Given the description of an element on the screen output the (x, y) to click on. 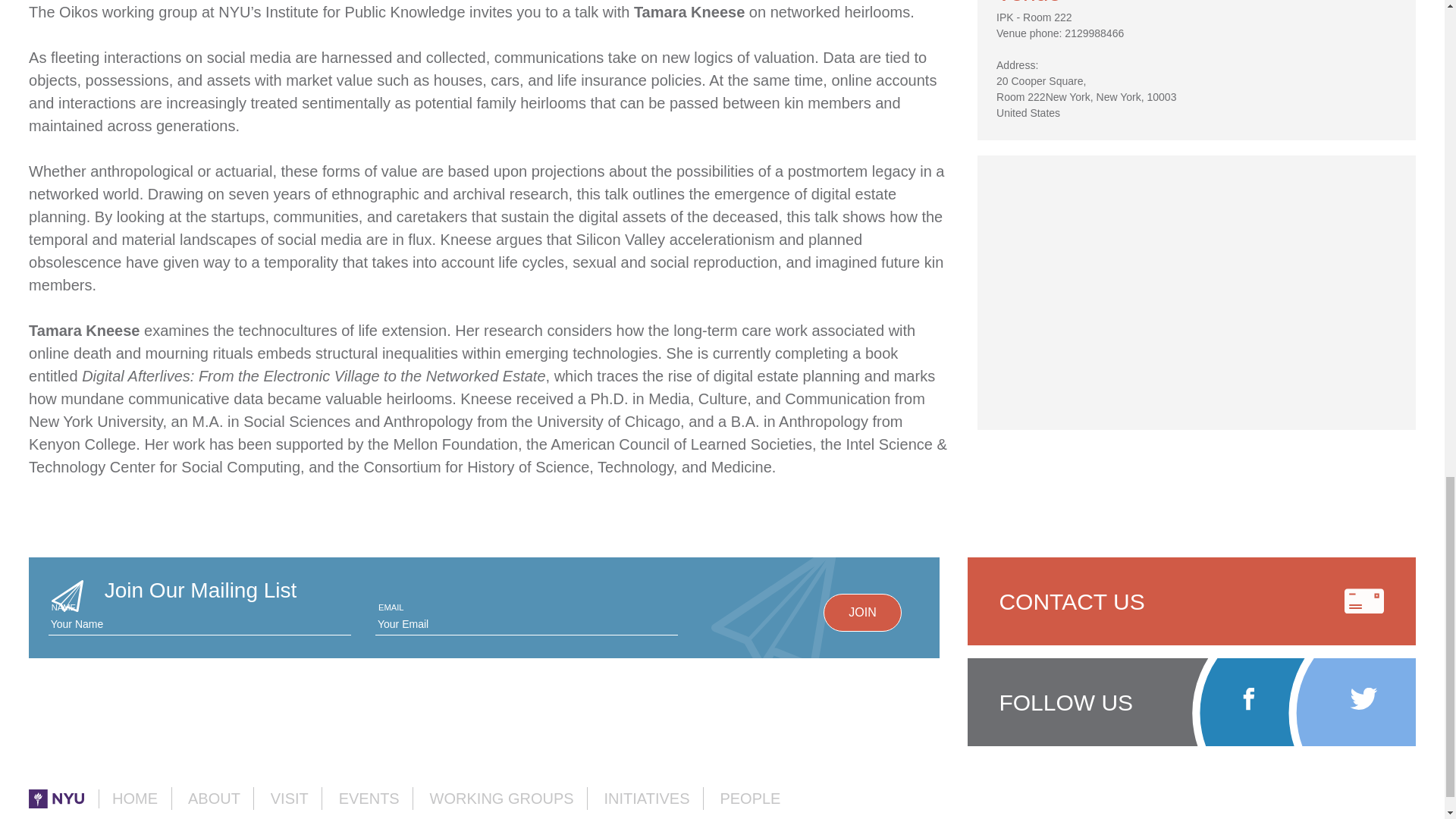
HOME (134, 798)
EVENTS (368, 798)
CONTACT US (1191, 600)
PEOPLE (749, 798)
INITIATIVES (647, 798)
ABOUT (213, 798)
WORKING GROUPS (501, 798)
JOIN (862, 612)
VISIT (289, 798)
